Given the description of an element on the screen output the (x, y) to click on. 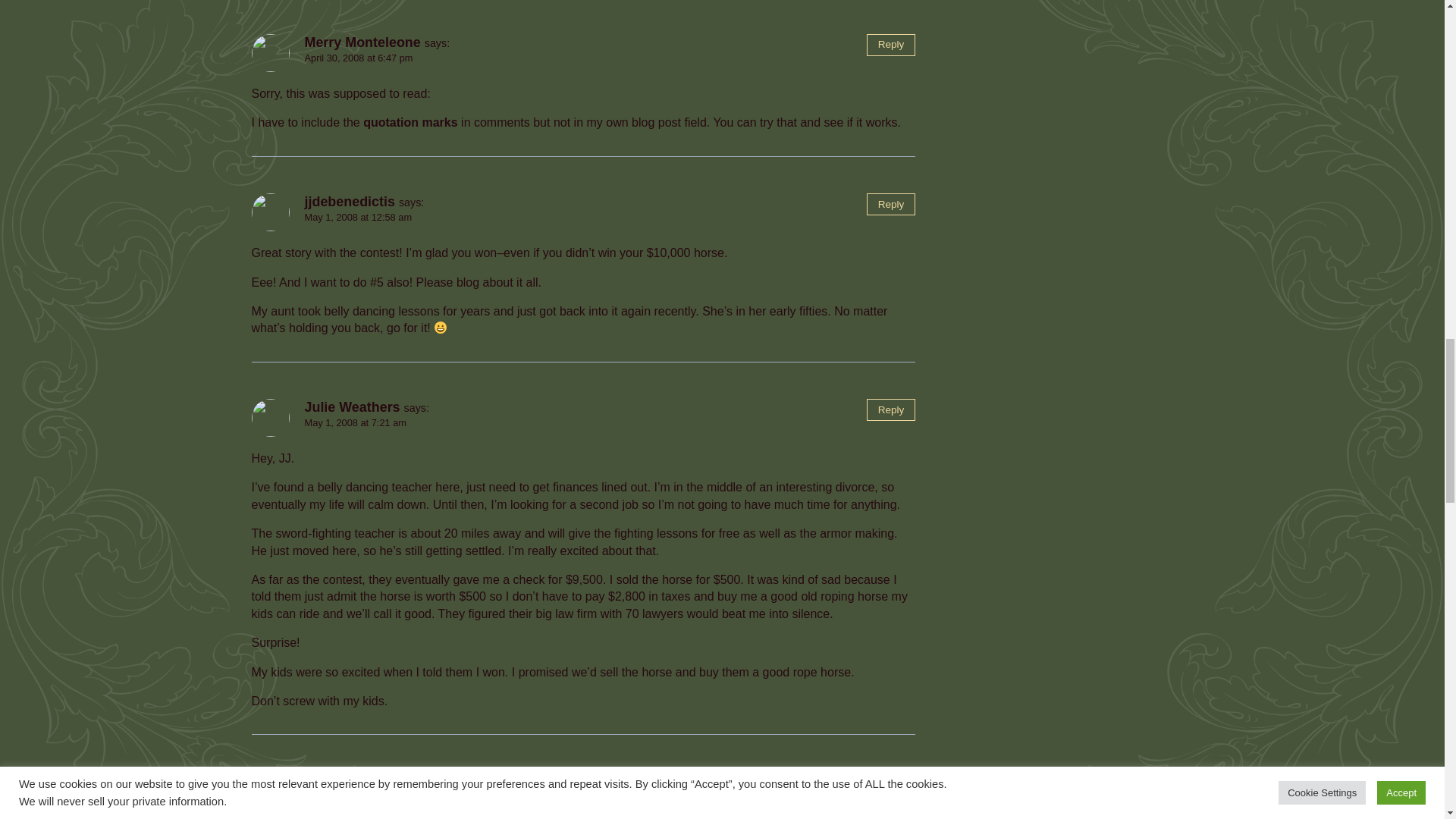
Reply (890, 782)
Reply (890, 45)
Julie Weathers (352, 779)
May 1, 2008 at 7:21 am (355, 422)
Julie Weathers (352, 406)
April 30, 2008 at 6:47 pm (358, 57)
jjdebenedictis (349, 201)
May 1, 2008 at 7:27 am (355, 795)
Merry Monteleone (362, 42)
Reply (890, 409)
